Given the description of an element on the screen output the (x, y) to click on. 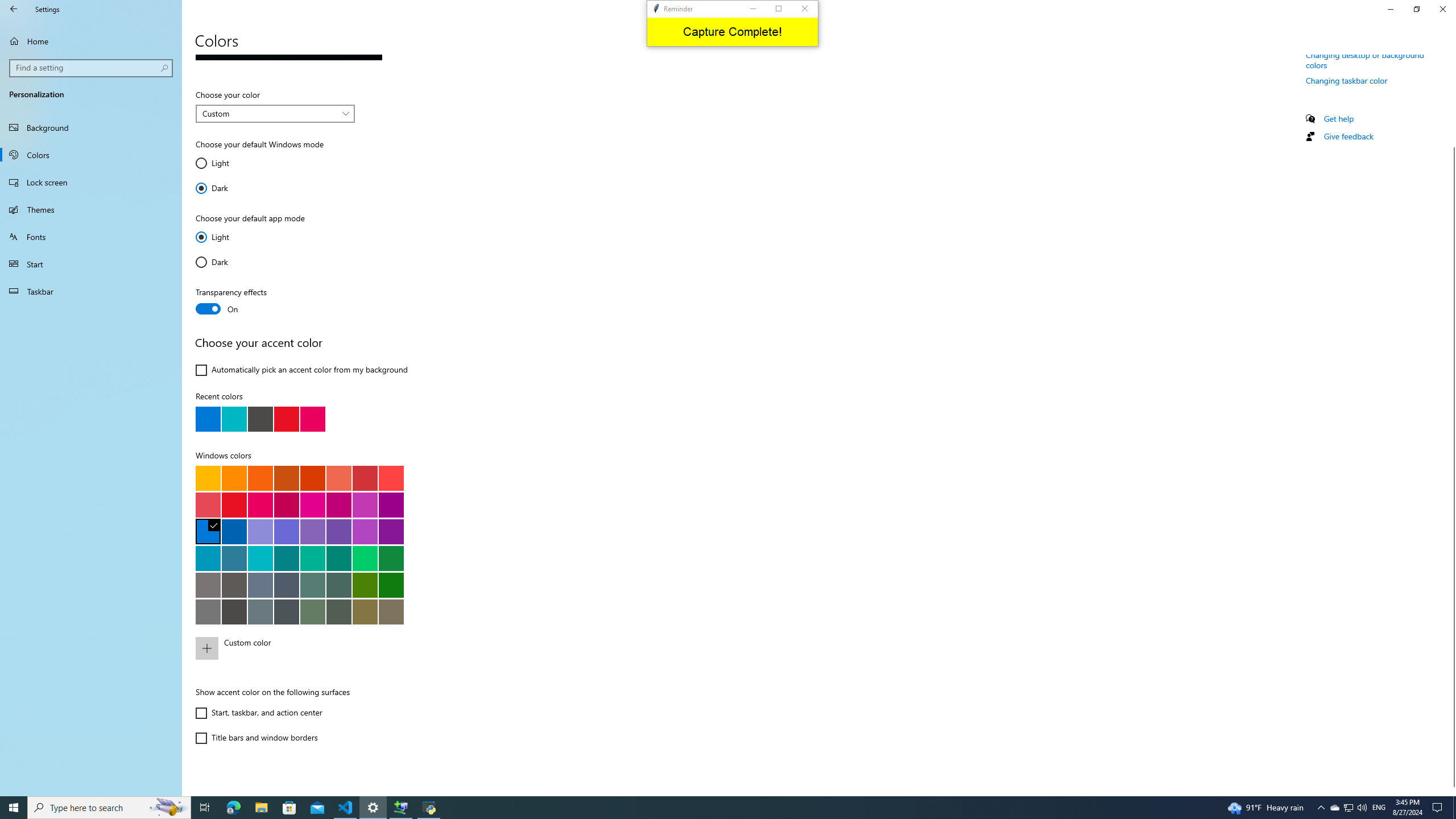
Pale moss (311, 584)
Automatically pick an accent color from my background (301, 370)
Fonts (91, 236)
Background (91, 126)
Lock screen (91, 181)
Steel blue (260, 584)
Light (229, 236)
Gray dark (285, 611)
Extensible Wizards Host Process - 1 running window (400, 807)
